Given the description of an element on the screen output the (x, y) to click on. 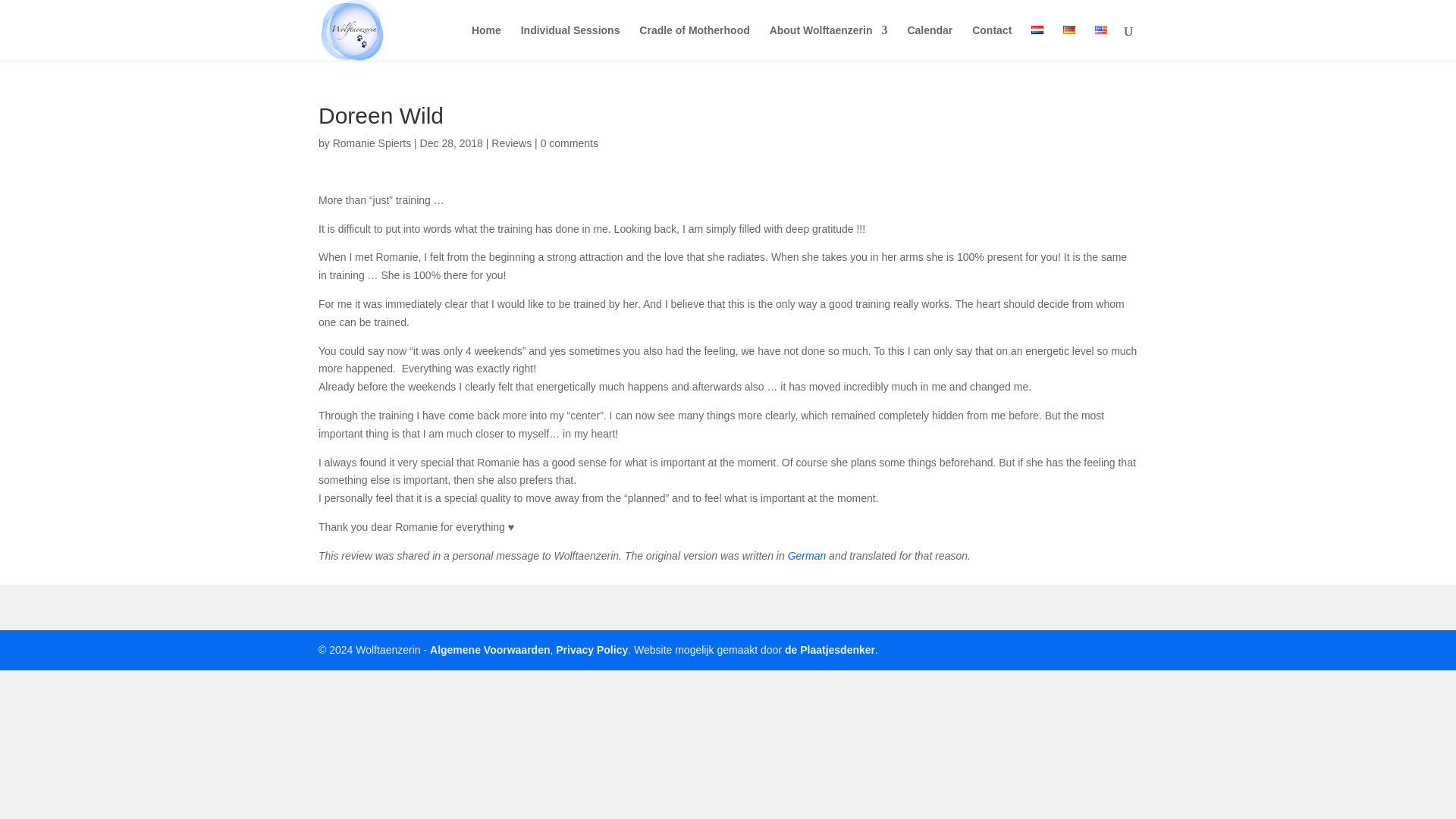
Romanie Spierts (372, 143)
Algemene Voorwaarden (489, 649)
Reviews (511, 143)
Privacy Policy (591, 649)
Individual Sessions (570, 42)
Cradle of Motherhood (694, 42)
About Wolftaenzerin (829, 42)
Contact (991, 42)
0 comments (569, 143)
Posts by Romanie Spierts (372, 143)
